Given the description of an element on the screen output the (x, y) to click on. 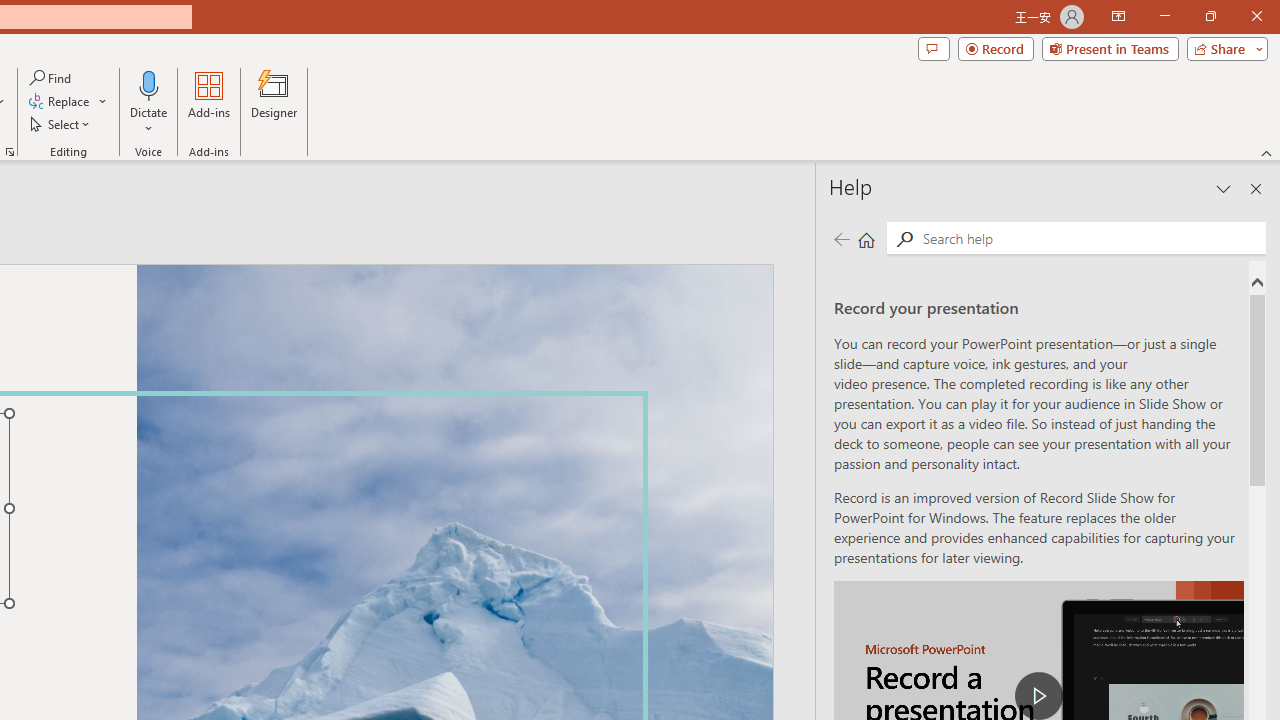
play Record a Presentation (1038, 695)
